Given the description of an element on the screen output the (x, y) to click on. 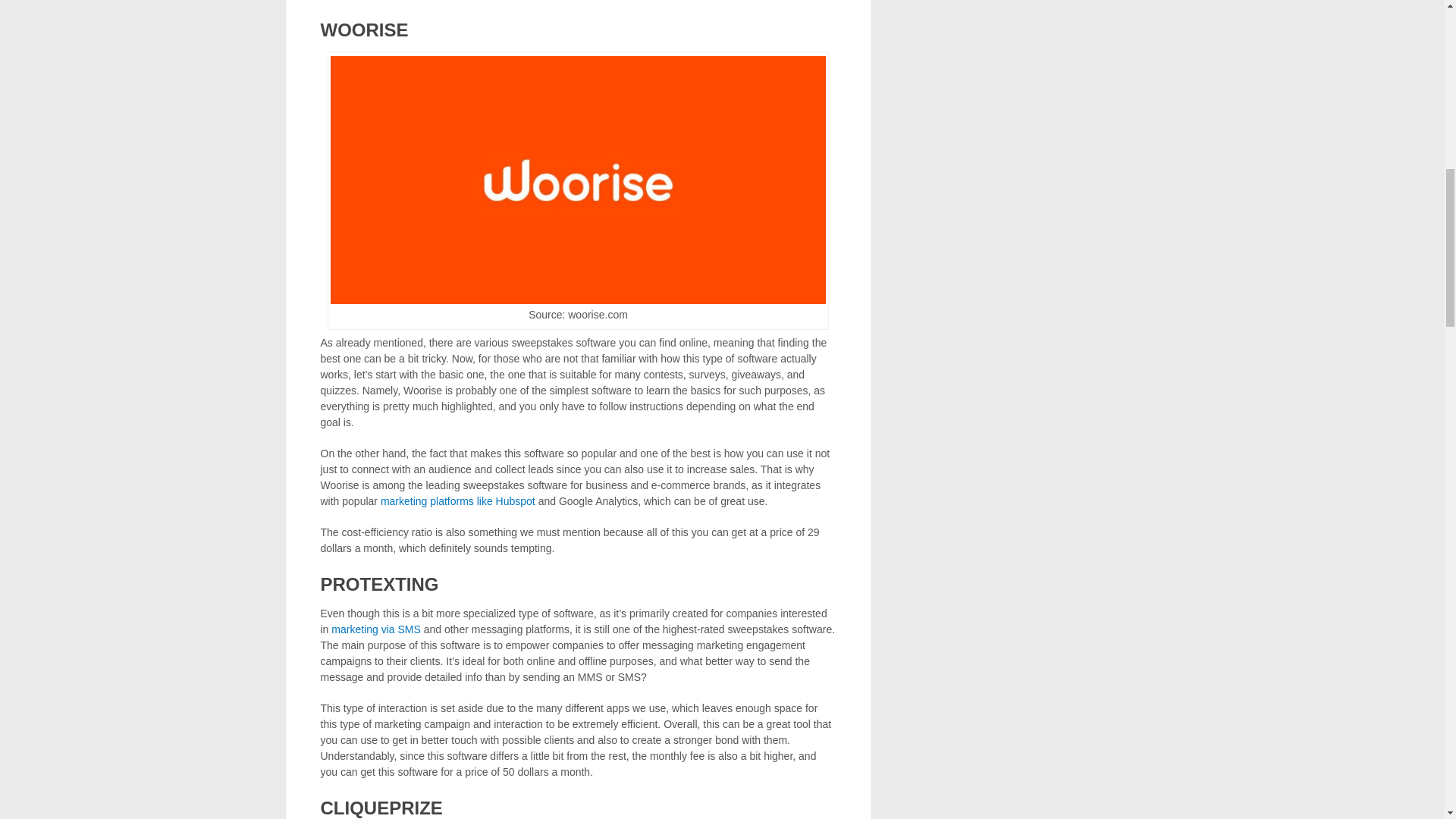
marketing platforms like Hubspot (457, 500)
marketing via SMS (375, 629)
